Given the description of an element on the screen output the (x, y) to click on. 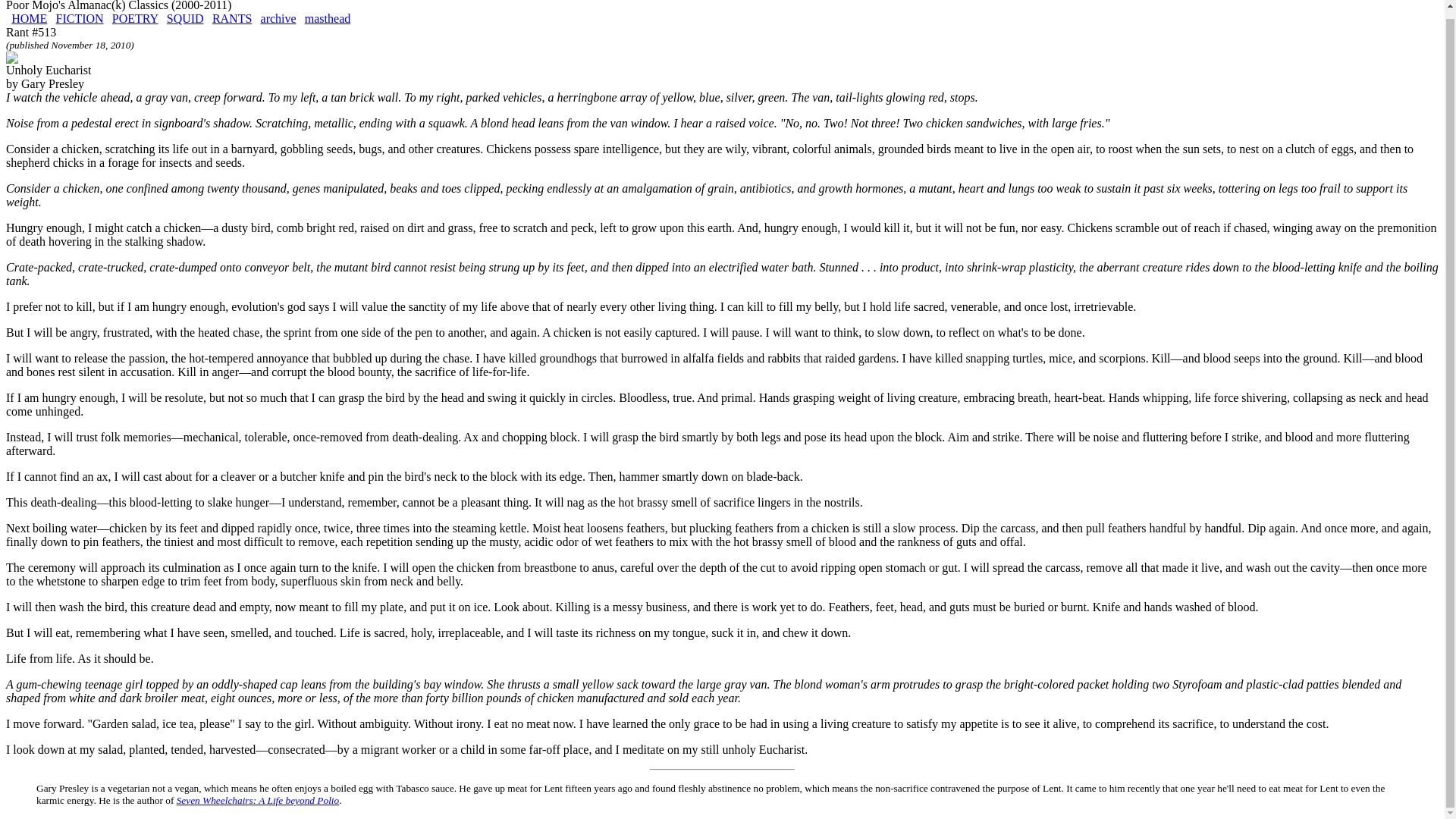
FICTION (79, 18)
SQUID (185, 18)
masthead (327, 18)
archive (278, 18)
Seven Wheelchairs: A Life beyond Polio (257, 799)
RANTS (231, 18)
POETRY (135, 18)
HOME (28, 18)
